Given the description of an element on the screen output the (x, y) to click on. 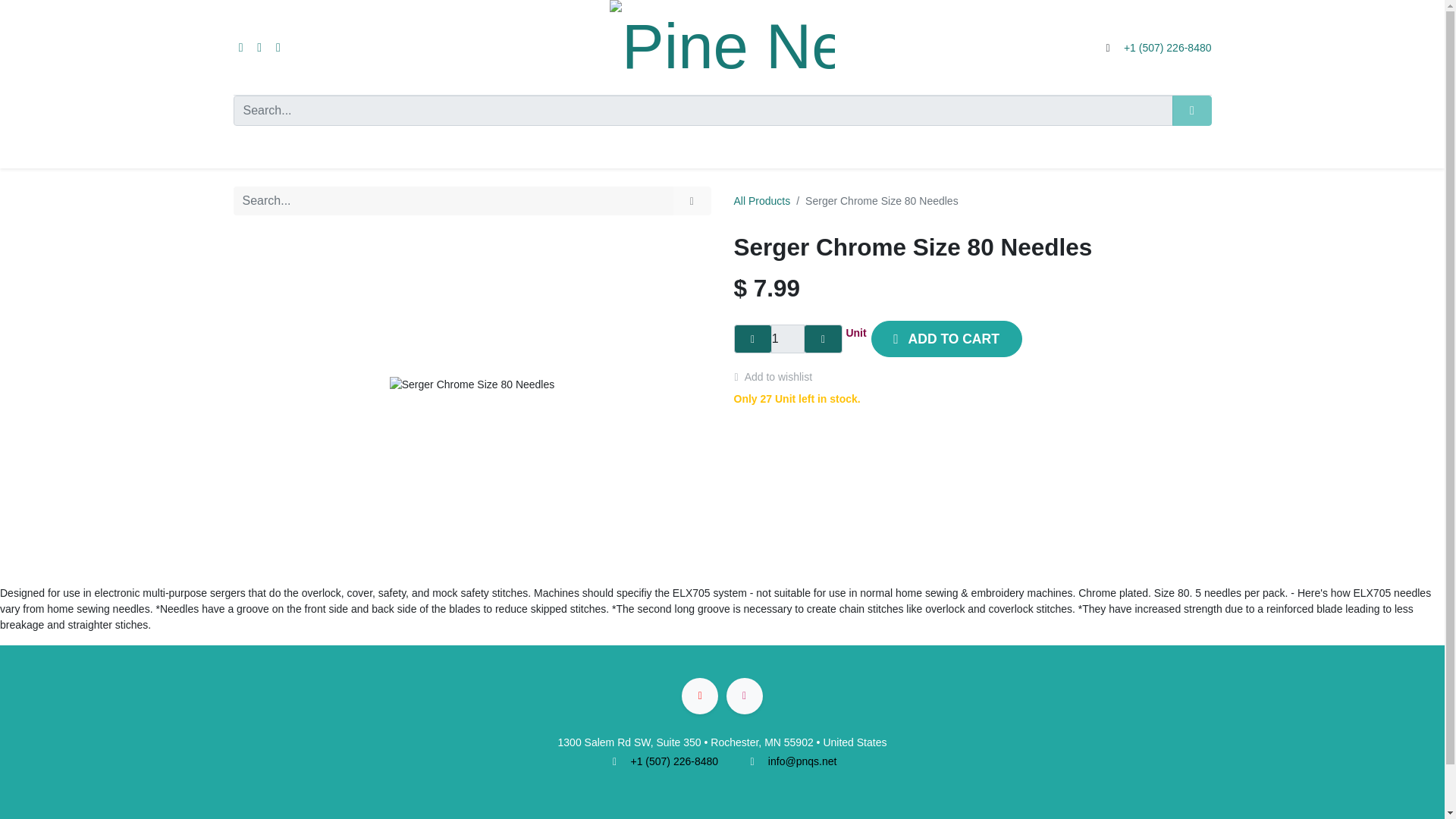
Pine Needles Quilt Shop (722, 47)
Search (1191, 110)
Unit (855, 333)
1 (788, 338)
